Given the description of an element on the screen output the (x, y) to click on. 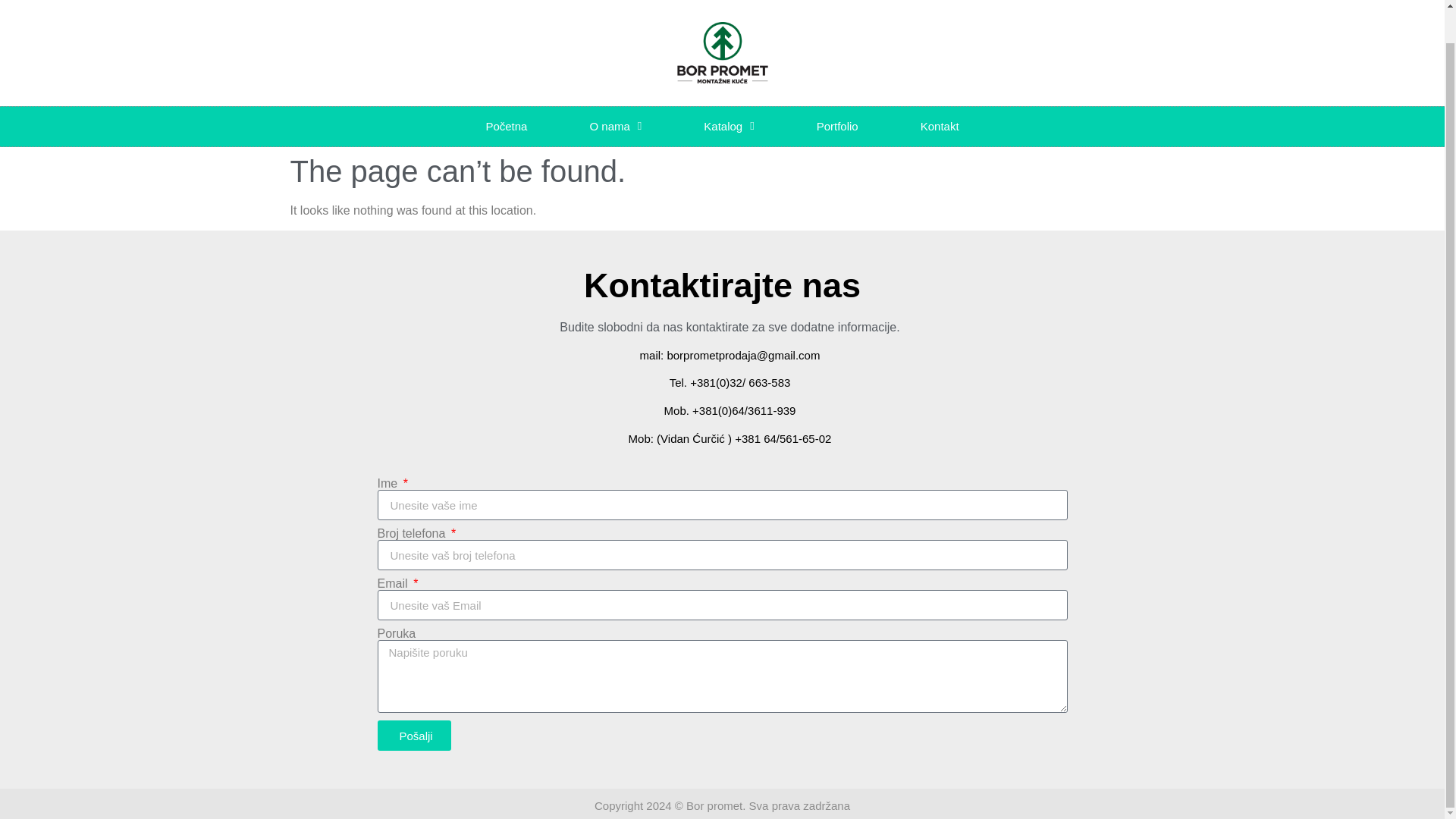
O nama (614, 126)
Portfolio (837, 126)
Katalog (728, 126)
Kontakt (939, 126)
